Given the description of an element on the screen output the (x, y) to click on. 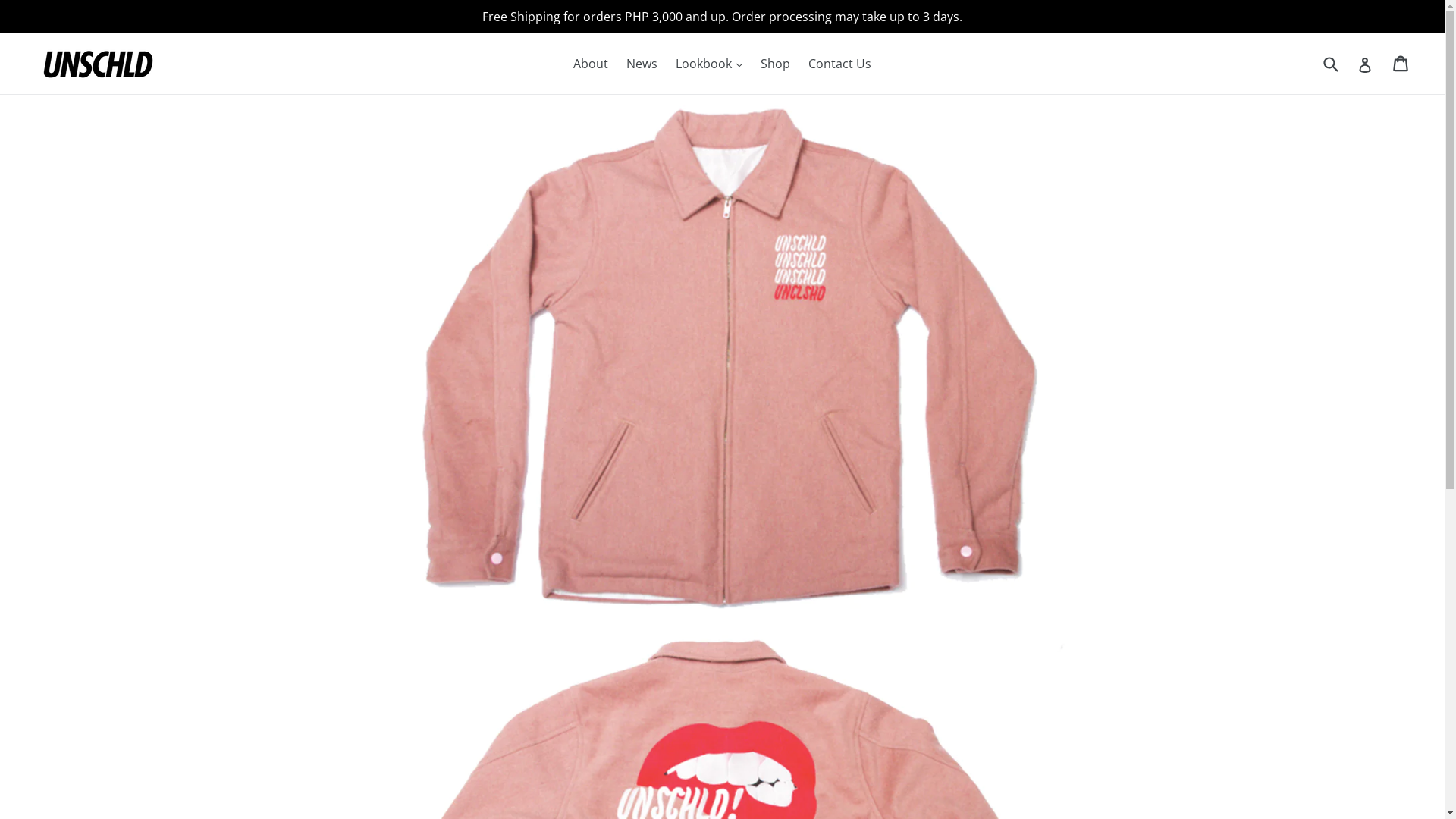
Log in Element type: text (1364, 63)
Contact Us Element type: text (839, 63)
News Element type: text (641, 63)
Shop Element type: text (775, 63)
About Element type: text (590, 63)
Cart
Cart Element type: text (1401, 63)
Submit Element type: text (1329, 62)
